Given the description of an element on the screen output the (x, y) to click on. 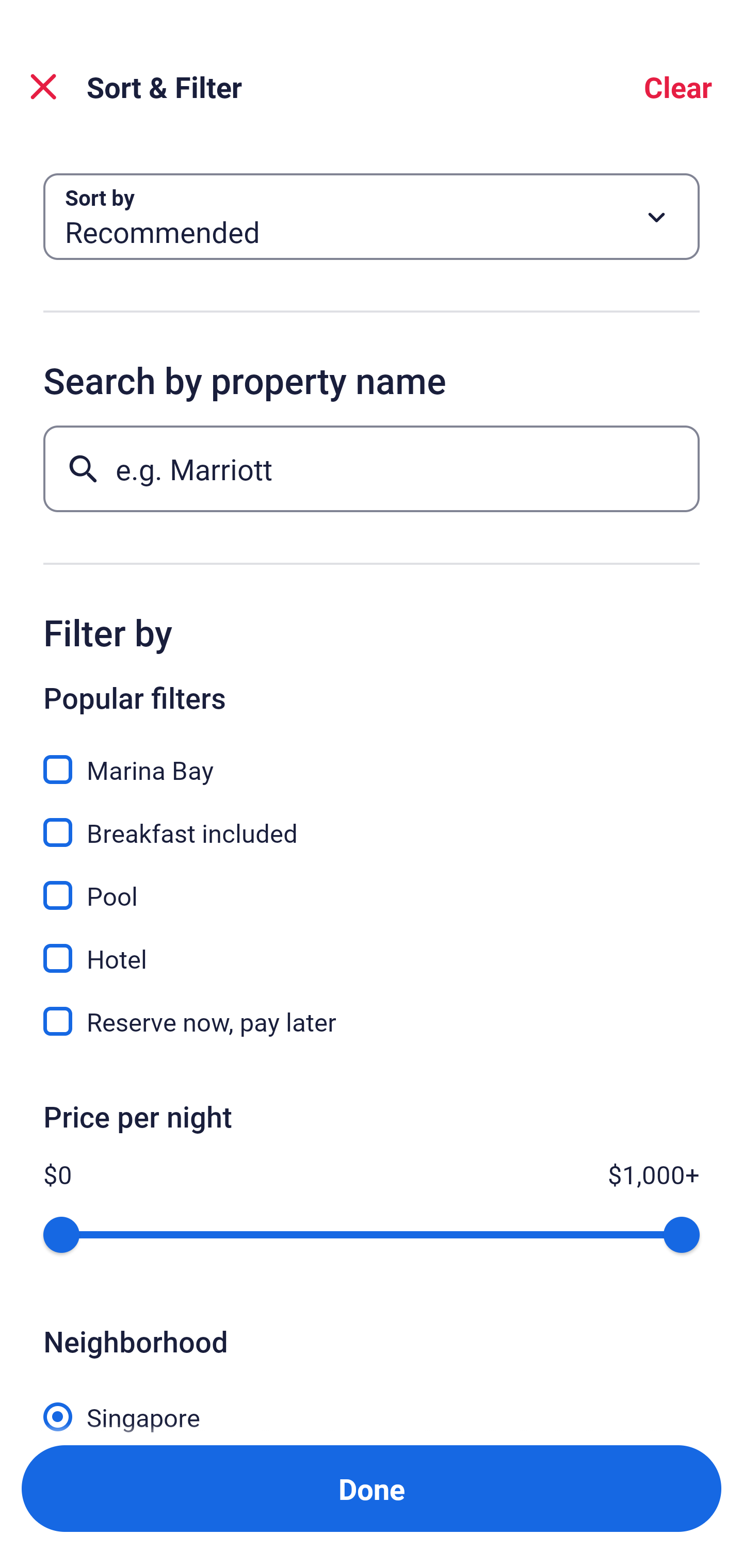
Close Sort and Filter (43, 86)
Clear (677, 86)
Sort by Button Recommended (371, 217)
e.g. Marriott Button (371, 468)
Marina Bay, Marina Bay (371, 757)
Breakfast included, Breakfast included (371, 821)
Pool, Pool (371, 883)
Hotel, Hotel (371, 946)
Reserve now, pay later, Reserve now, pay later (371, 1021)
Apply and close Sort and Filter Done (371, 1488)
